Given the description of an element on the screen output the (x, y) to click on. 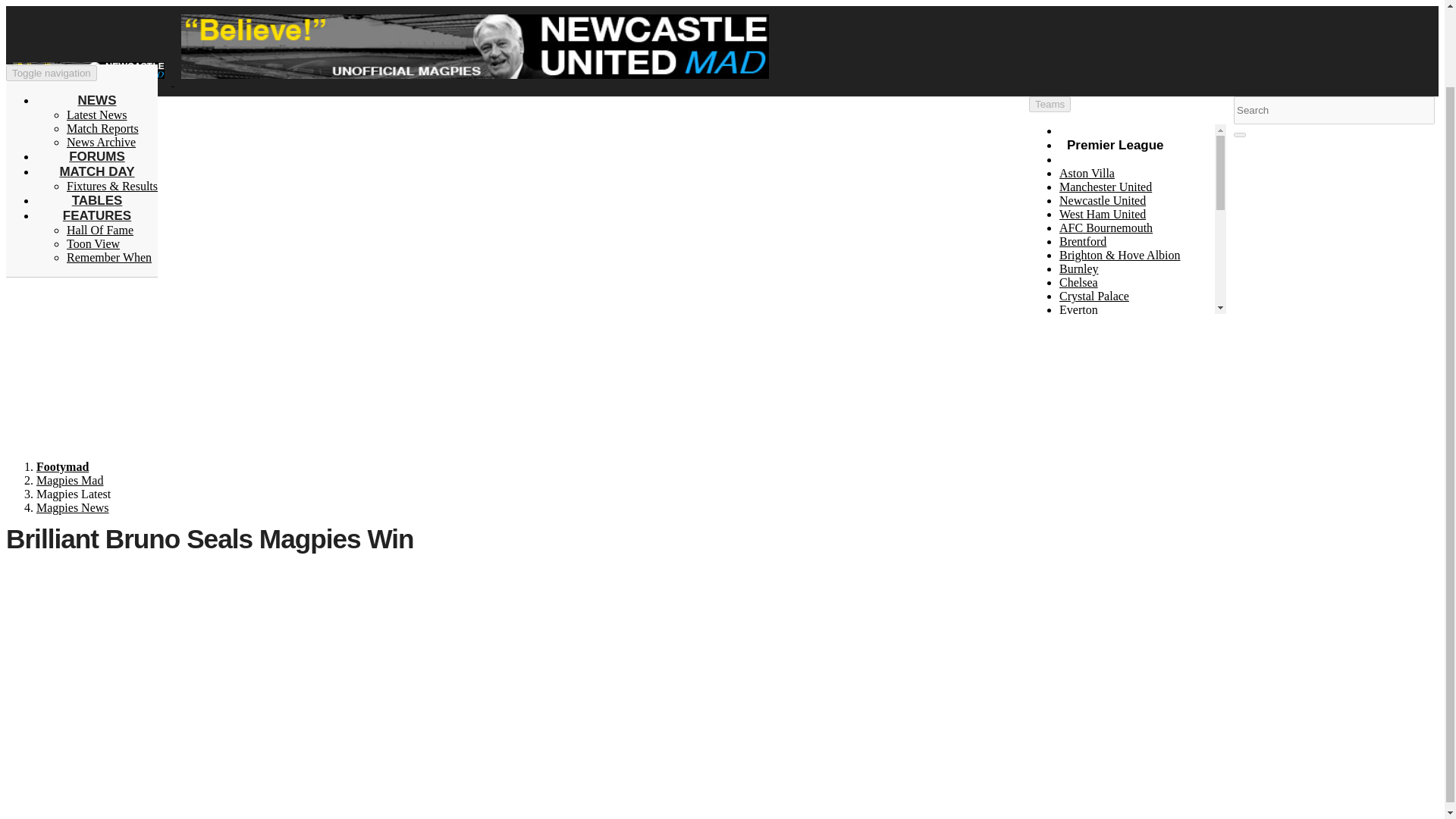
West Ham United (1102, 214)
Northern Ireland (1099, 502)
Wales (1074, 543)
Match Reports (111, 98)
Crystal Palace (1094, 295)
Hall Of Fame (99, 142)
Sheffield United (1099, 377)
Tottenham Hotspur (1106, 391)
MATCH DAY (96, 84)
News Archive (100, 54)
